Given the description of an element on the screen output the (x, y) to click on. 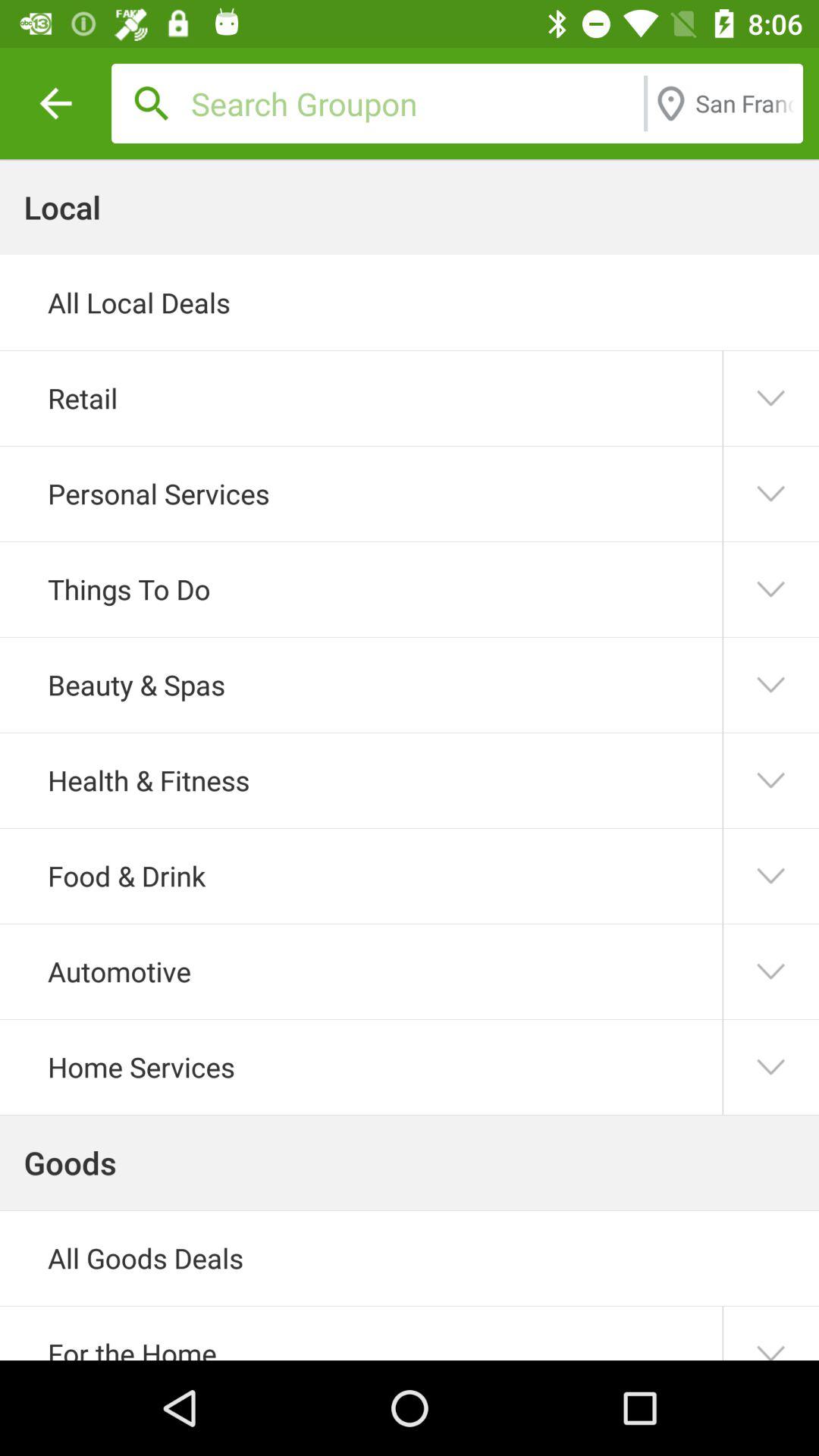
launch icon above the local (55, 103)
